Given the description of an element on the screen output the (x, y) to click on. 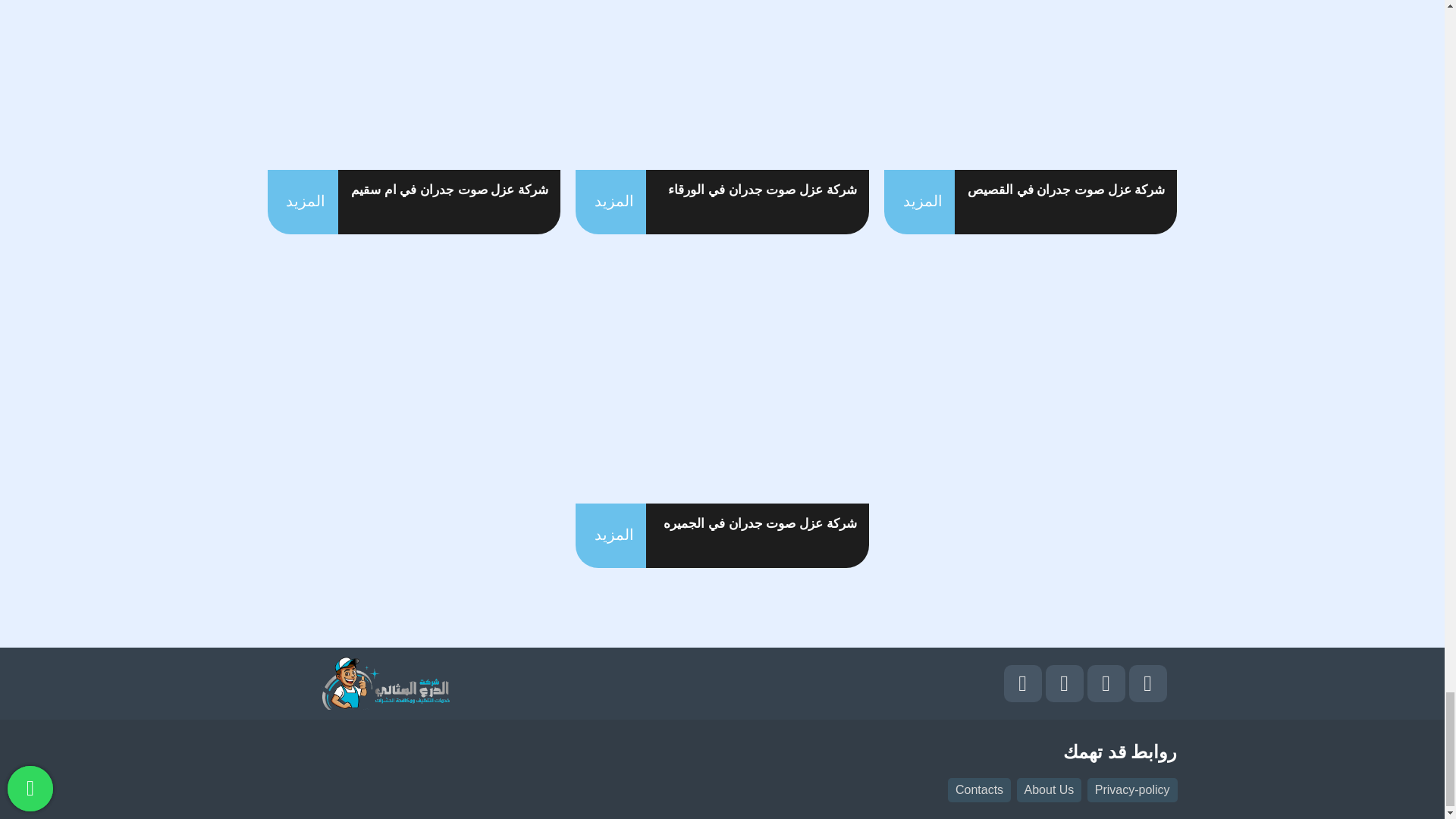
Ideal Shield Services Company (384, 683)
